Given the description of an element on the screen output the (x, y) to click on. 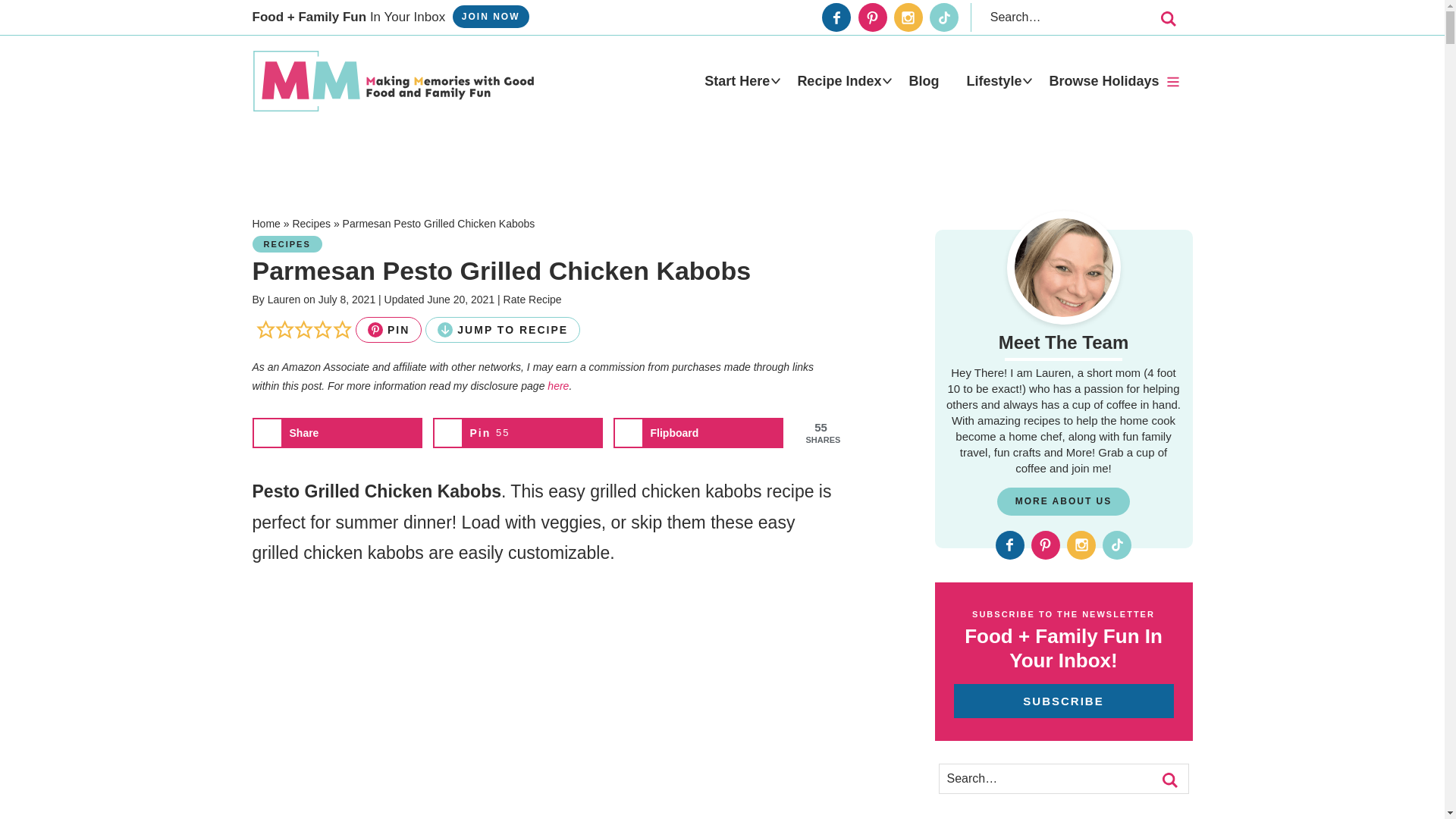
JUMP TO RECIPE (502, 329)
Save to Pinterest (517, 432)
JOIN NOW (490, 15)
Start Here (736, 80)
Search for (1063, 778)
Share on Facebook (336, 432)
MIDGETMOMMA (392, 80)
Recipe Index (839, 80)
Share on Flipboard (697, 432)
Search for (1078, 17)
